Given the description of an element on the screen output the (x, y) to click on. 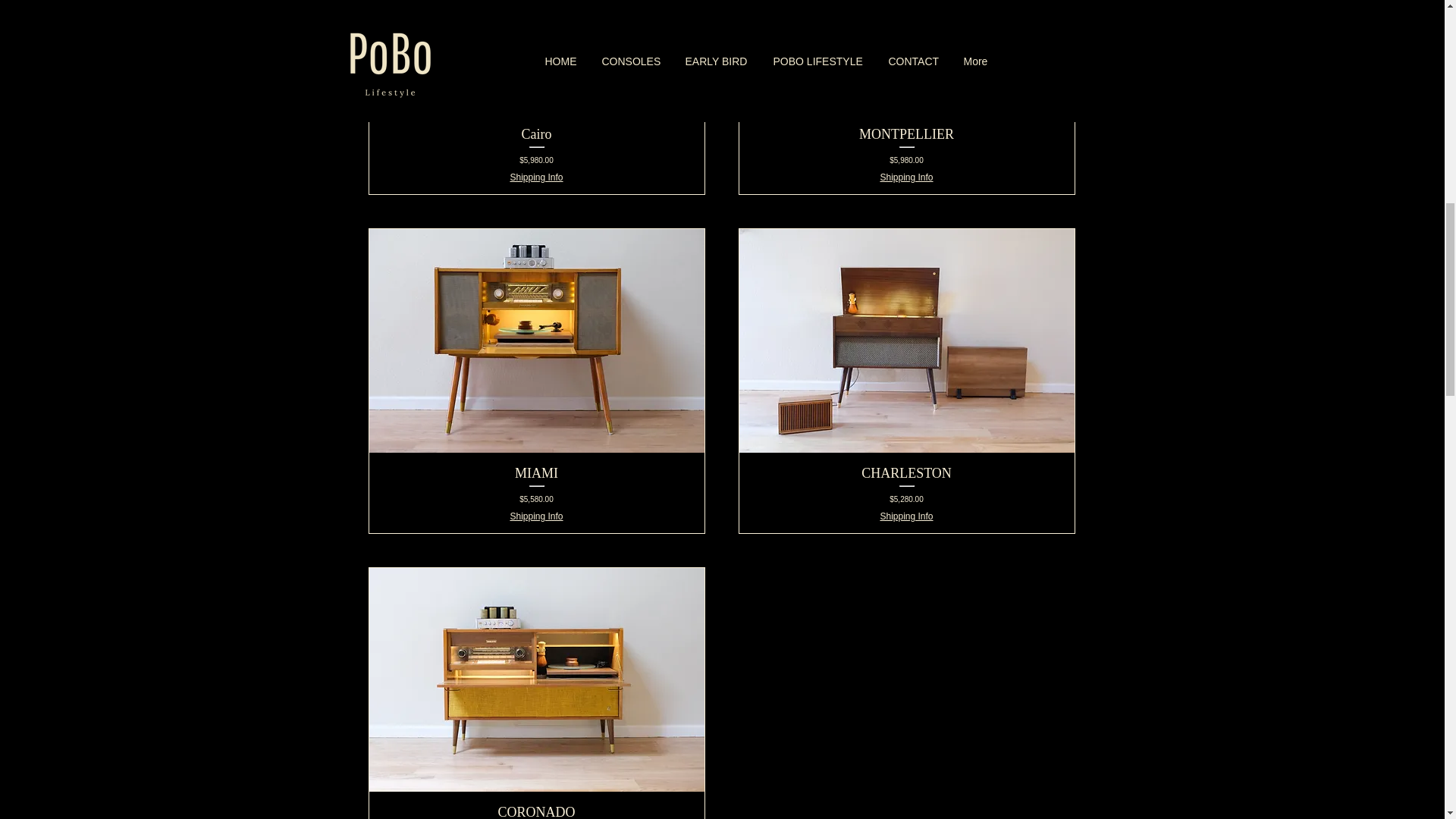
Shipping Info (535, 177)
Shipping Info (535, 516)
Shipping Info (906, 516)
Shipping Info (906, 177)
